Given the description of an element on the screen output the (x, y) to click on. 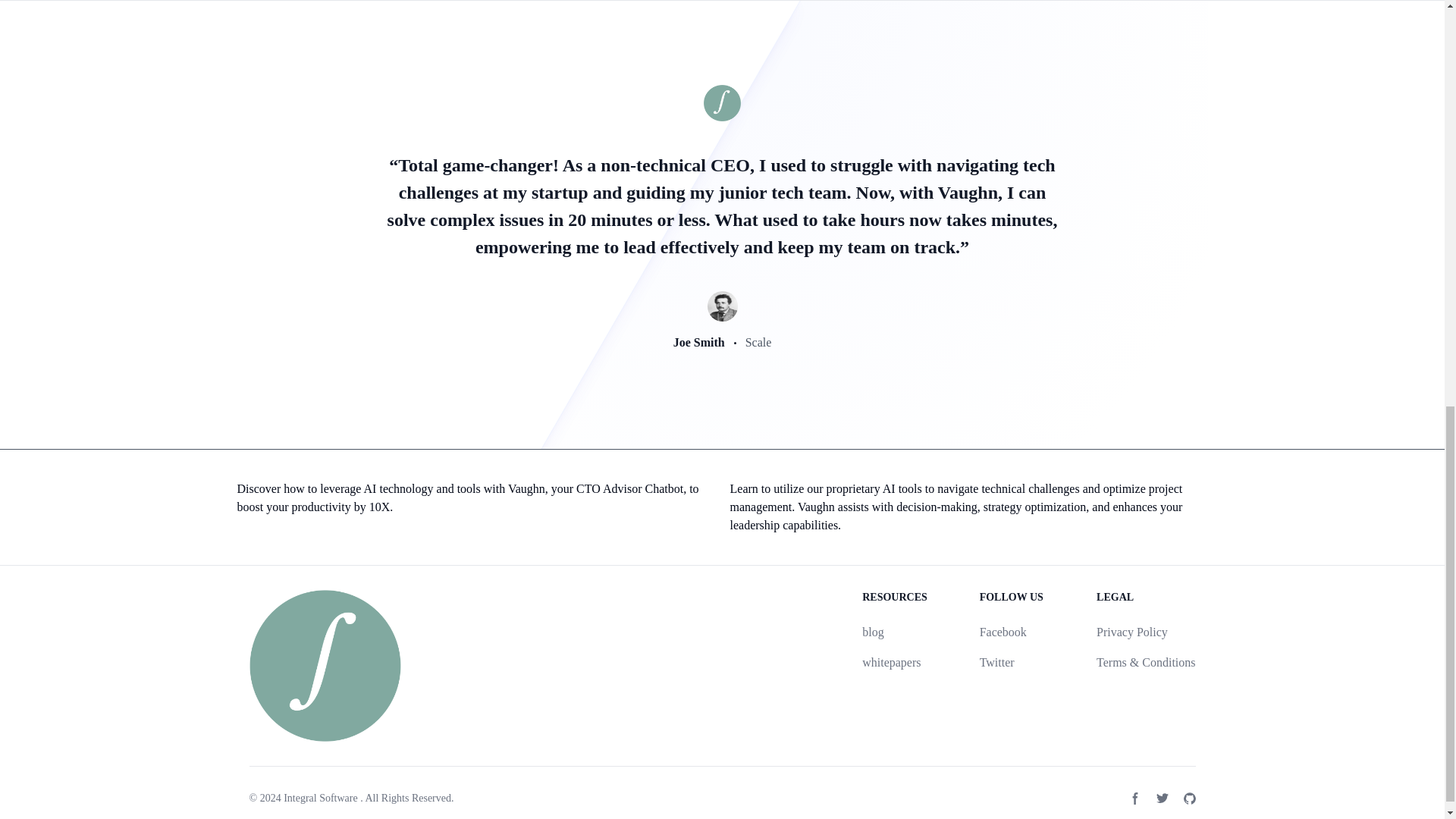
Integral Software (320, 797)
blog (872, 631)
whitepapers (890, 662)
Facebook page (1134, 798)
Privacy Policy (1131, 631)
GitHub account (1188, 798)
Facebook (1002, 631)
Twitter (996, 662)
Twitter page (1161, 798)
